Given the description of an element on the screen output the (x, y) to click on. 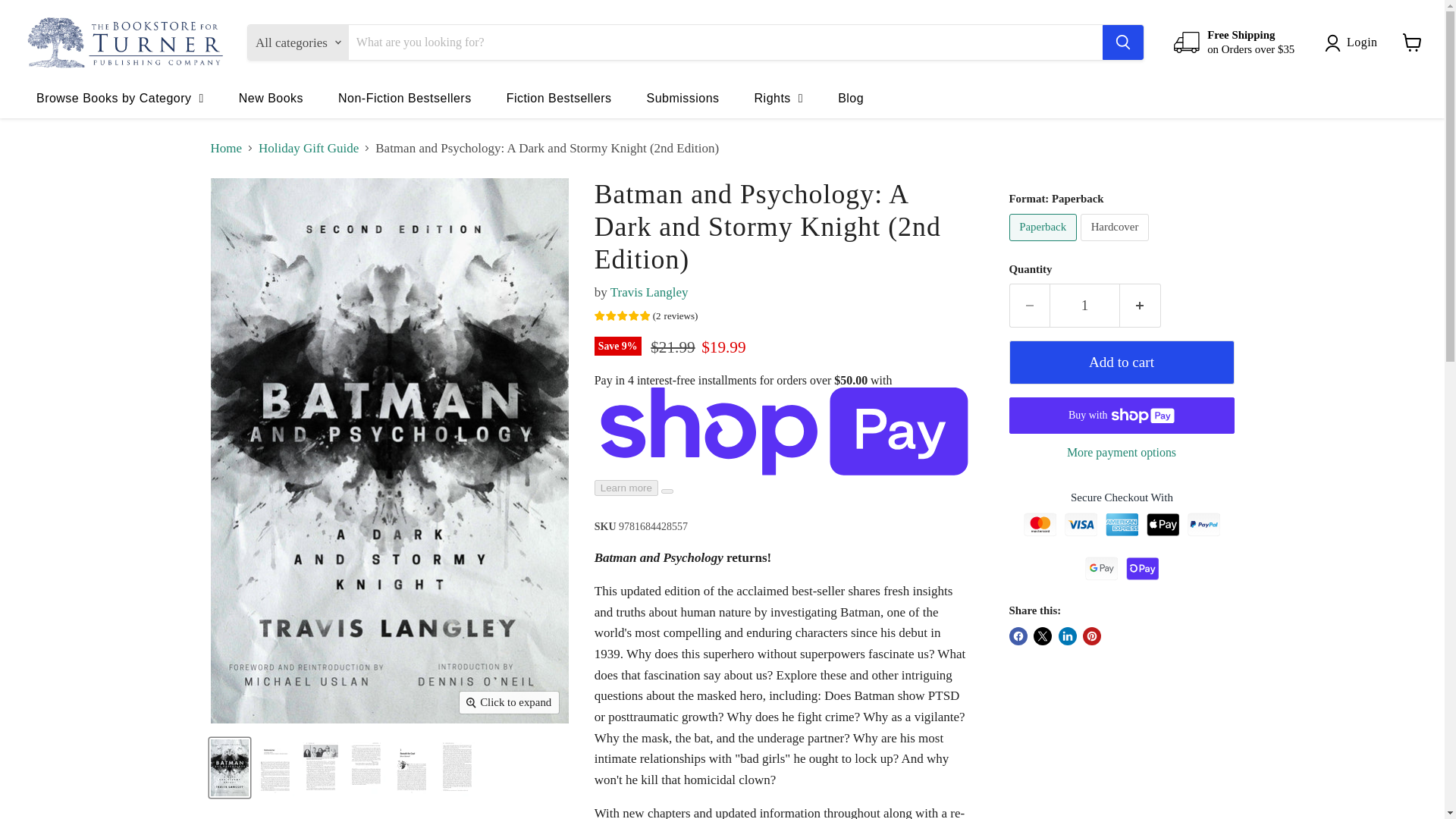
Login (1354, 42)
Browse Books by Category (119, 97)
1 (1084, 305)
View cart (1411, 41)
Browse Books by Category (119, 97)
